Given the description of an element on the screen output the (x, y) to click on. 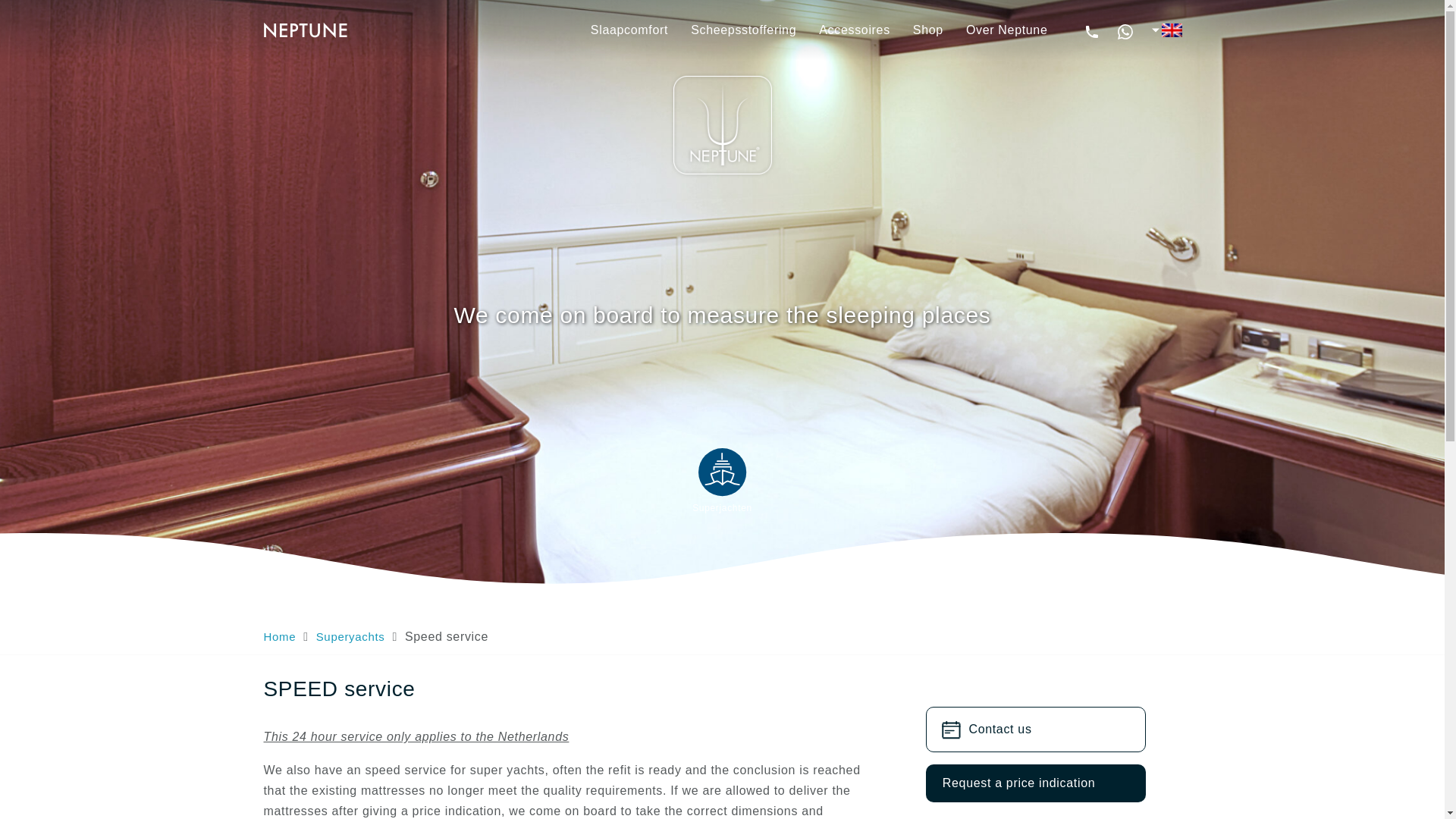
Request a price indication (1035, 783)
Superyachts (350, 635)
Shop (927, 30)
Speed service (445, 635)
Scheepsstoffering (743, 30)
Home (280, 635)
Slaapcomfort (629, 30)
Whatsapp with us (1125, 30)
Accessoires (853, 30)
Over Neptune (1007, 30)
